Given the description of an element on the screen output the (x, y) to click on. 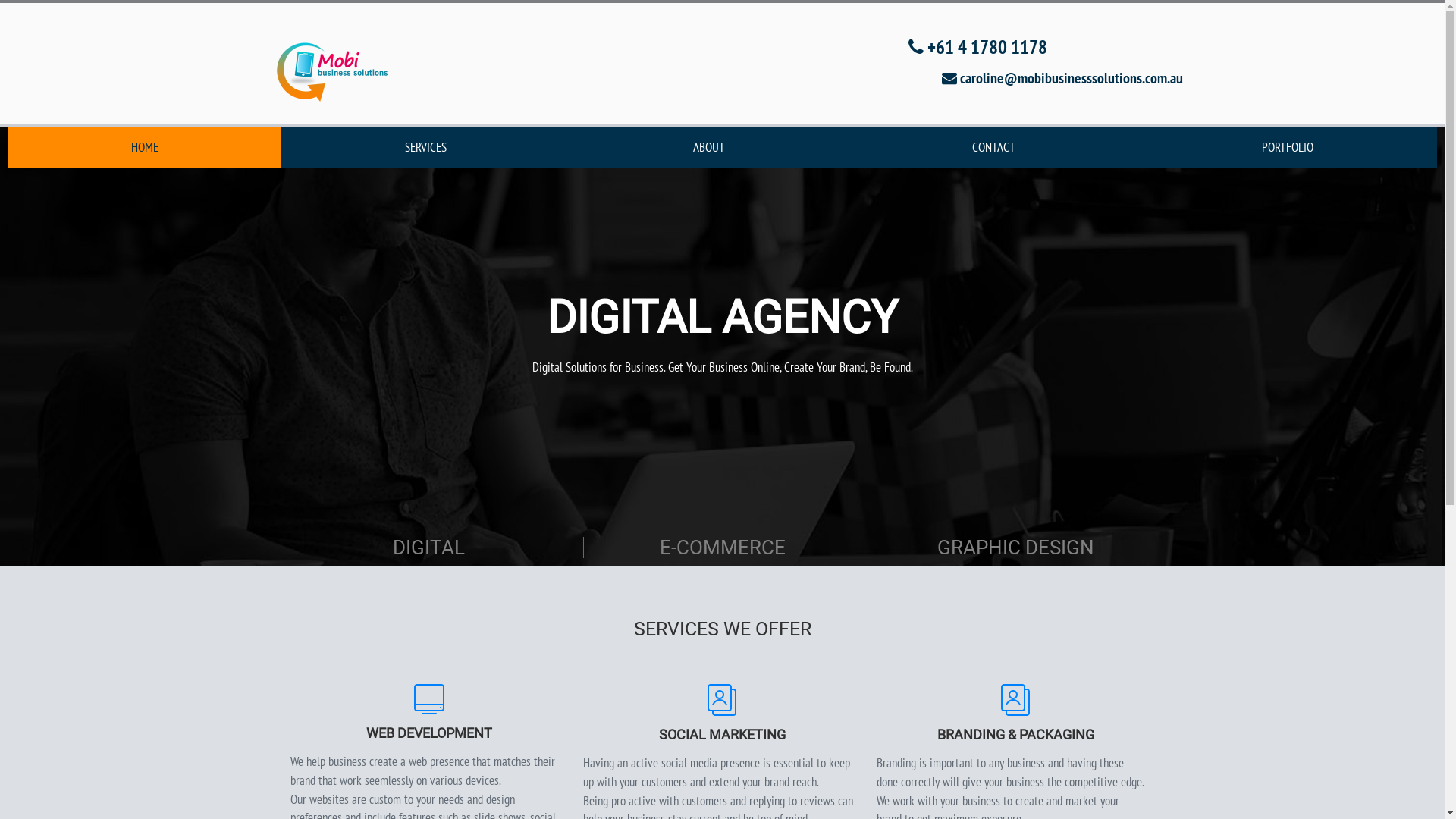
CONTACT Element type: text (993, 147)
ABOUT Element type: text (709, 147)
PORTFOLIO Element type: text (1288, 147)
caroline@mobibusinesssolutions.com.au Element type: text (1062, 77)
HOME Element type: text (144, 147)
+61 4 1780 1178 Element type: text (977, 46)
SERVICES Element type: text (425, 147)
